Given the description of an element on the screen output the (x, y) to click on. 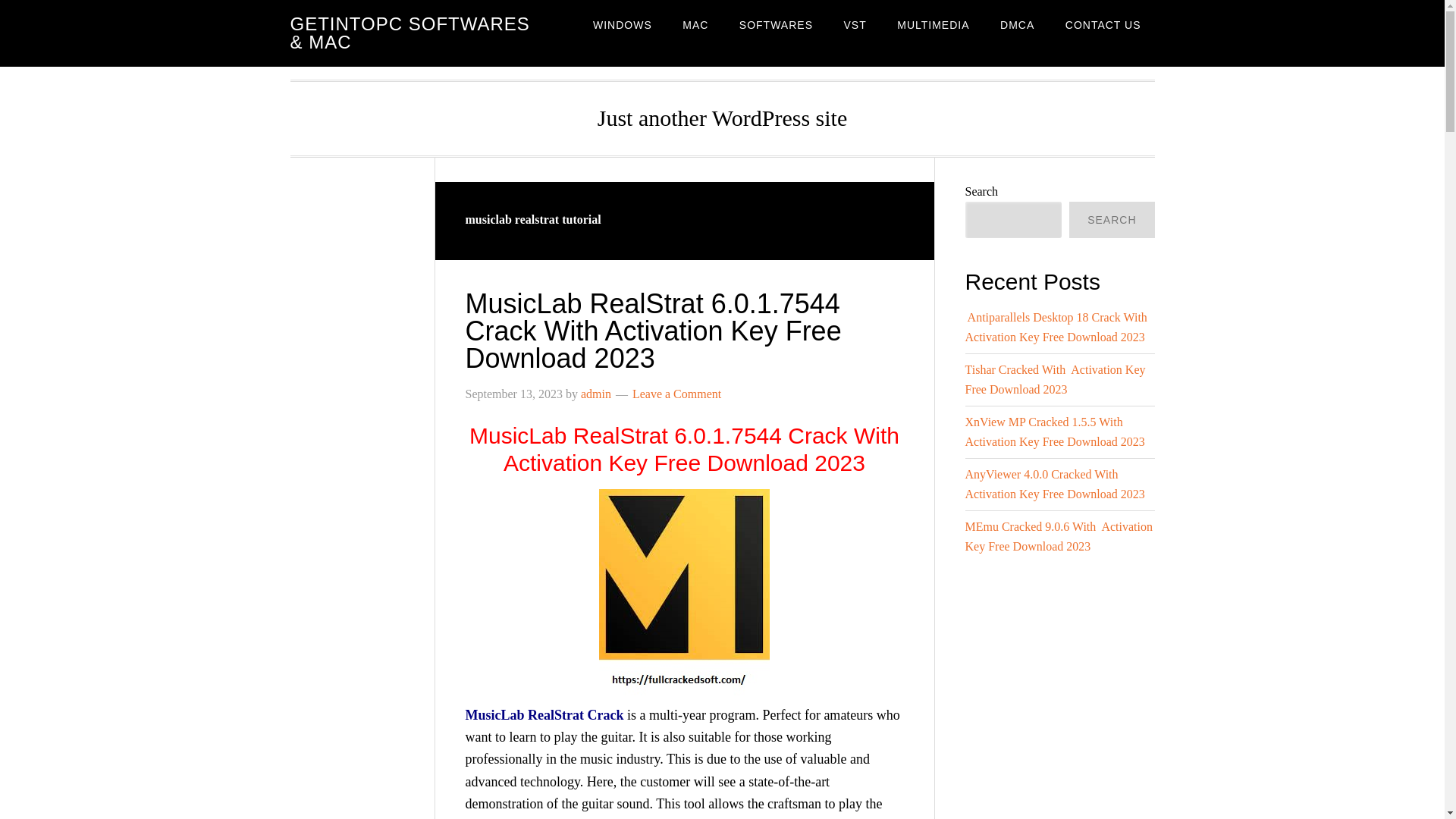
admin (595, 393)
DMCA (1017, 24)
WINDOWS (622, 24)
MAC (695, 24)
SEARCH (1111, 219)
Leave a Comment (675, 393)
VST (854, 24)
